Given the description of an element on the screen output the (x, y) to click on. 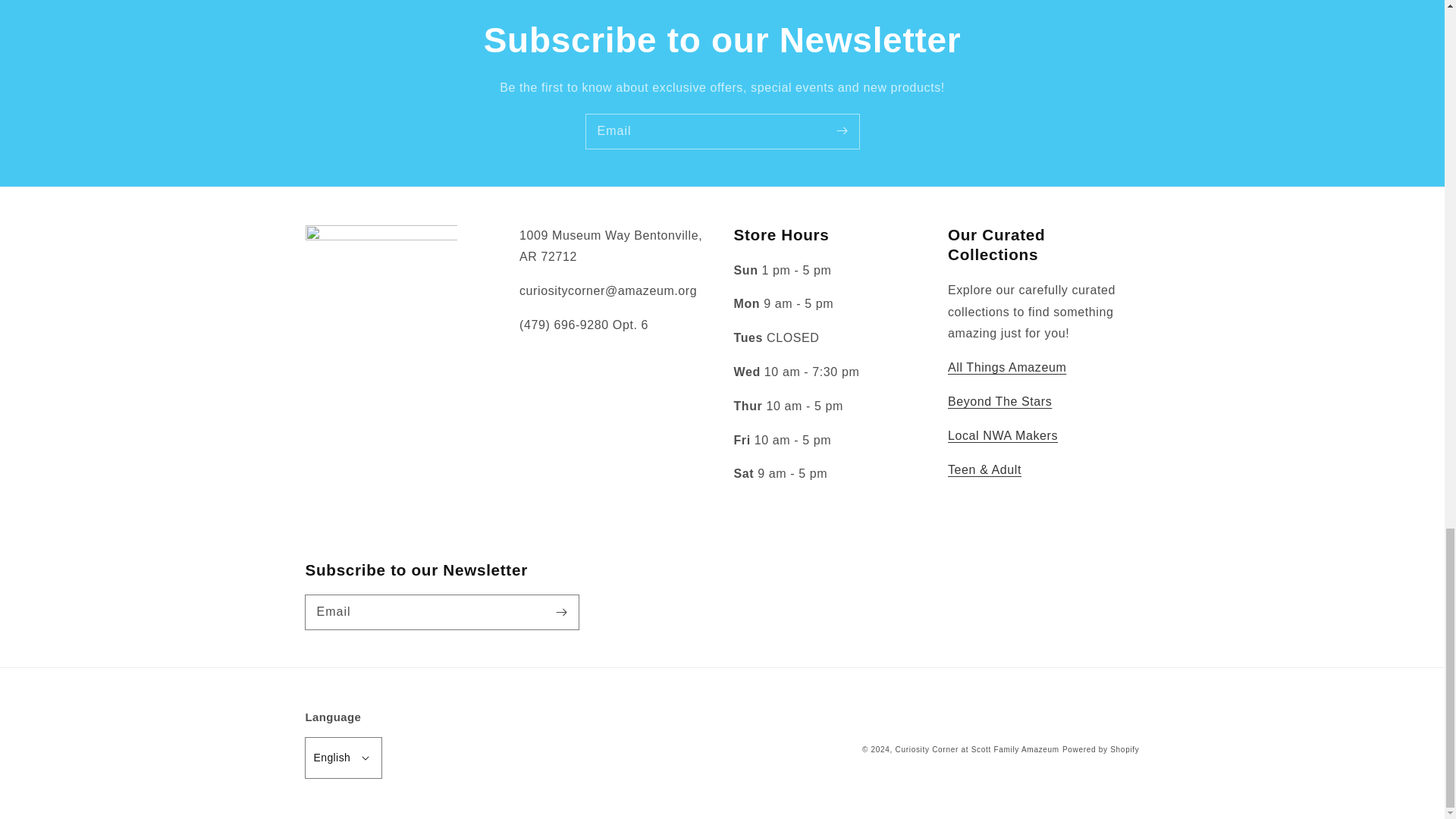
Beyond The Stars (999, 400)
Local Makers (1002, 435)
Branded Merch (1006, 367)
